Given the description of an element on the screen output the (x, y) to click on. 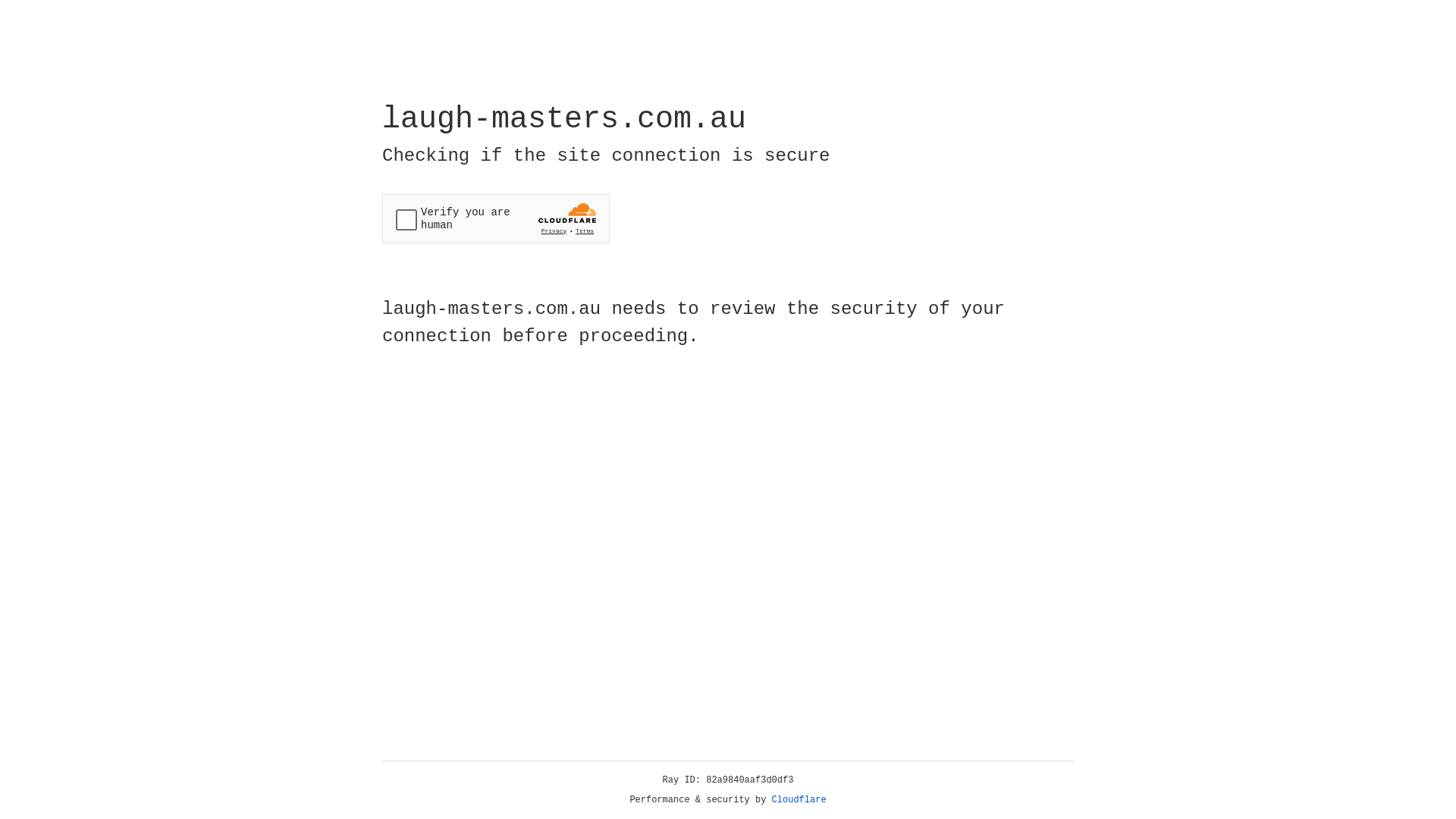
Cloudflare Element type: text (798, 799)
Widget containing a Cloudflare security challenge Element type: hover (495, 218)
